Given the description of an element on the screen output the (x, y) to click on. 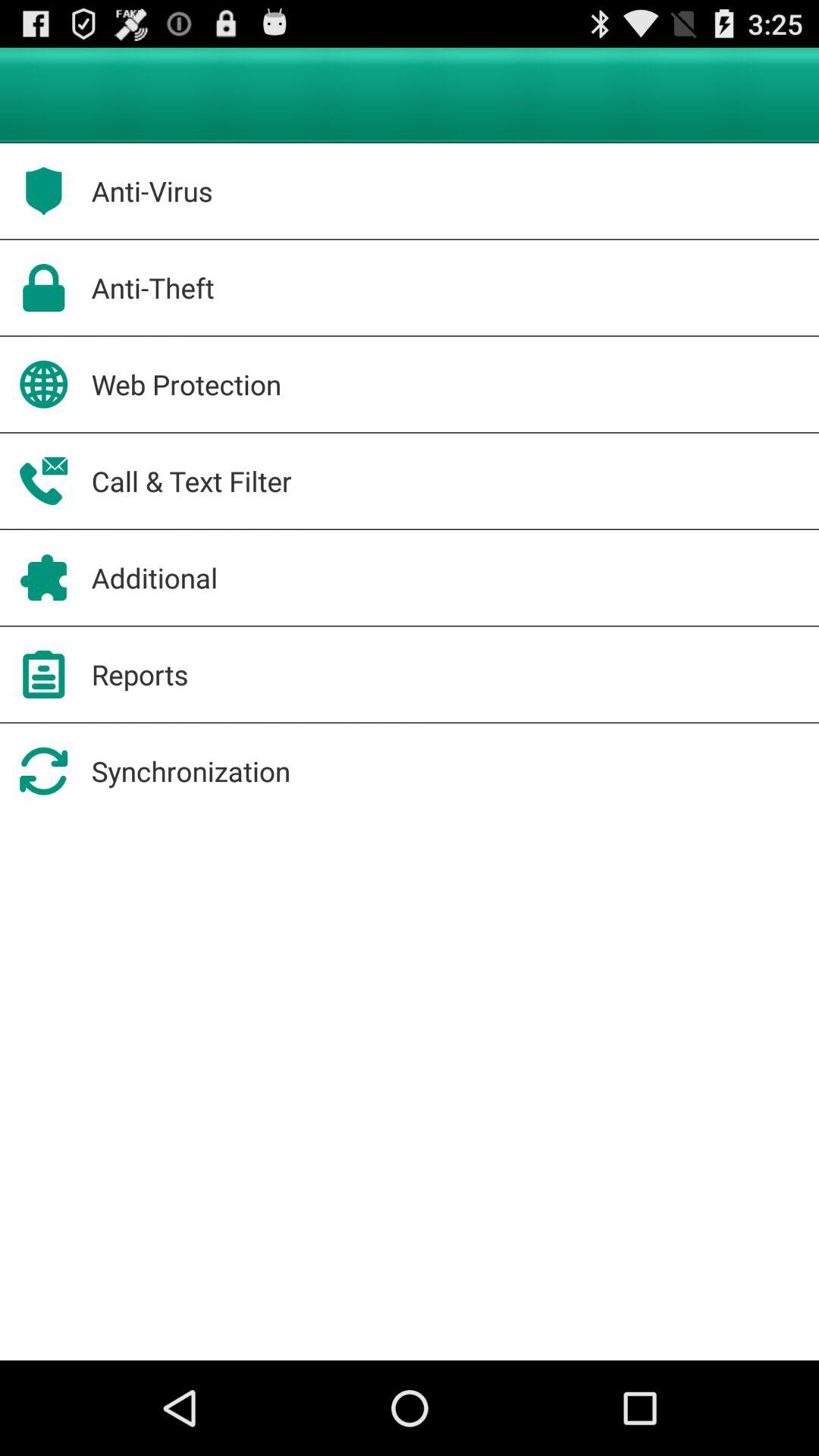
jump until anti-virus icon (151, 190)
